Given the description of an element on the screen output the (x, y) to click on. 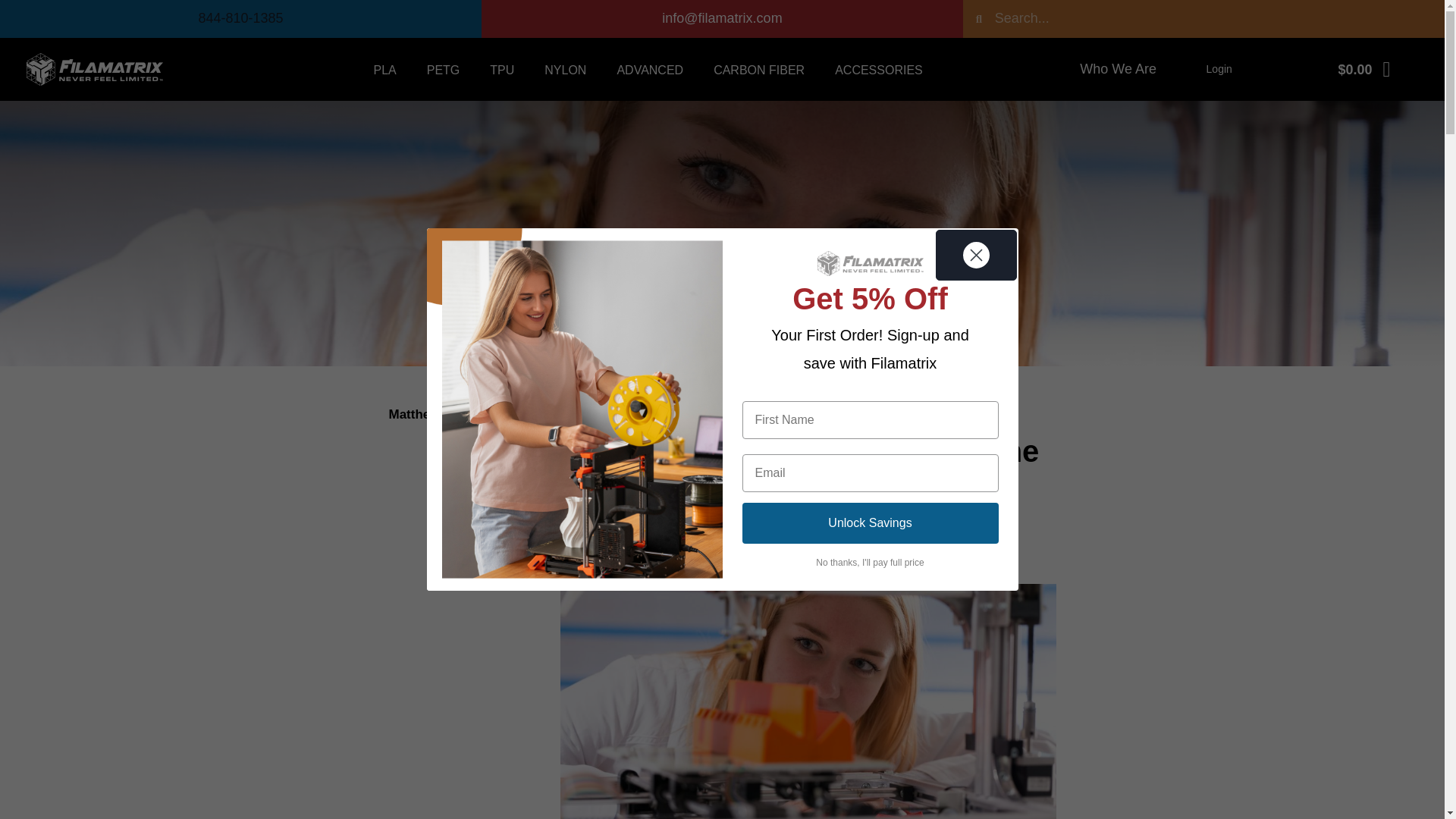
TPU (501, 69)
Close dialog 1 (976, 254)
ADVANCED (649, 69)
PLA (384, 69)
844-810-1385 (240, 17)
ACCESSORIES (878, 69)
Login (1219, 68)
NYLON (565, 69)
Who We Are (1118, 68)
PETG (444, 69)
CARBON FIBER (758, 69)
